Given the description of an element on the screen output the (x, y) to click on. 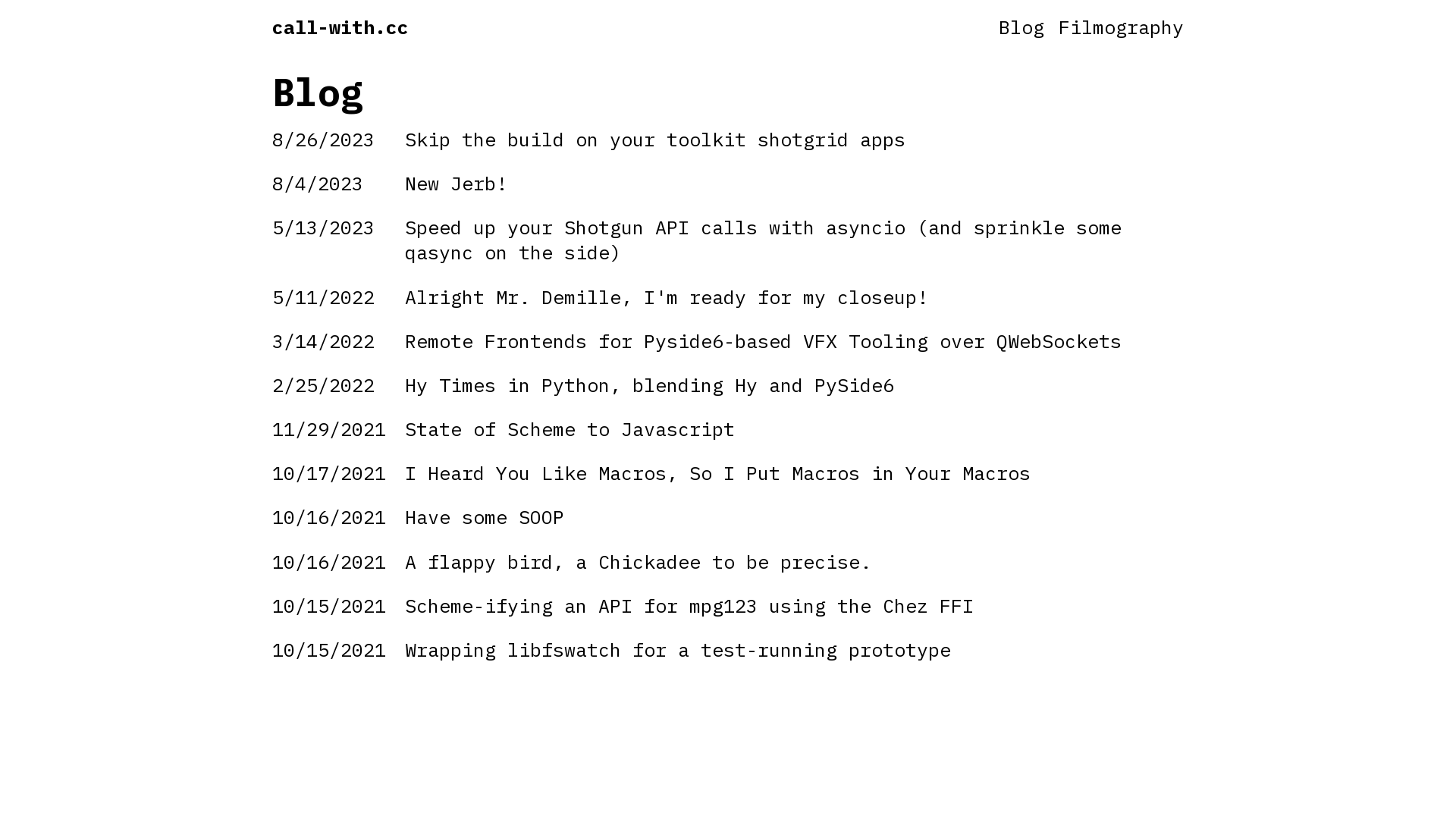
call-with.cc Element type: text (340, 26)
Filmography Element type: text (1120, 26)
8/4/2023 New Jerb! Element type: text (727, 183)
11/29/2021 State of Scheme to Javascript Element type: text (727, 429)
10/15/2021 Wrapping libfswatch for a test-running prototype Element type: text (727, 649)
2/25/2022 Hy Times in Python, blending Hy and PySide6 Element type: text (727, 384)
8/26/2023 Skip the build on your toolkit shotgrid apps Element type: text (727, 138)
5/11/2022 Alright Mr. Demille, I'm ready for my closeup! Element type: text (727, 296)
10/16/2021 A flappy bird, a Chickadee to be precise. Element type: text (727, 561)
10/16/2021 Have some SOOP Element type: text (727, 517)
Blog Element type: text (1021, 26)
